Given the description of an element on the screen output the (x, y) to click on. 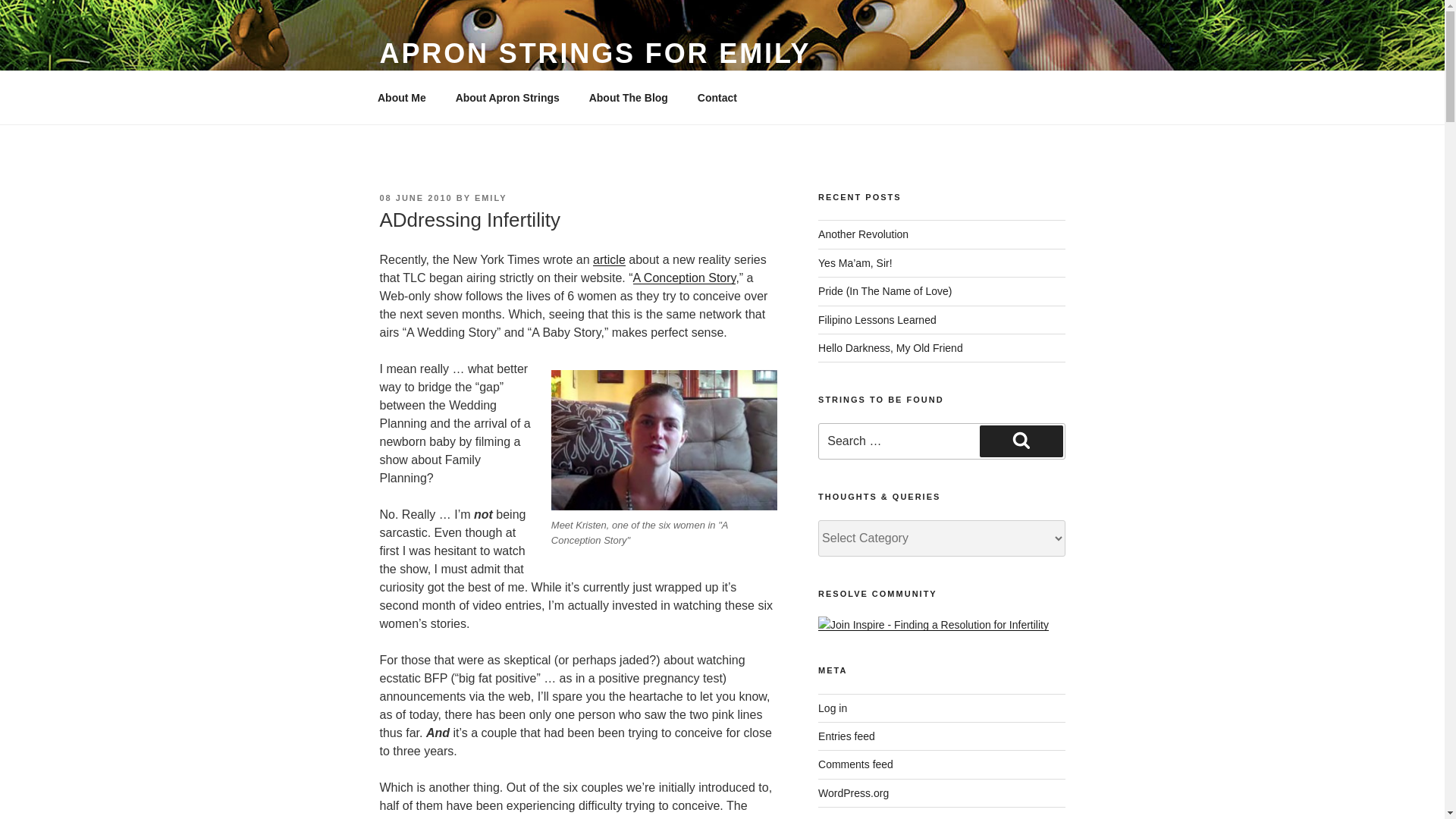
EMILY (490, 197)
Contact (716, 97)
APRON STRINGS FOR EMILY (594, 52)
About Me (401, 97)
08 JUNE 2010 (414, 197)
A Conception Story (684, 277)
article (609, 259)
About Apron Strings (507, 97)
About The Blog (628, 97)
KristenTLC (664, 440)
